Given the description of an element on the screen output the (x, y) to click on. 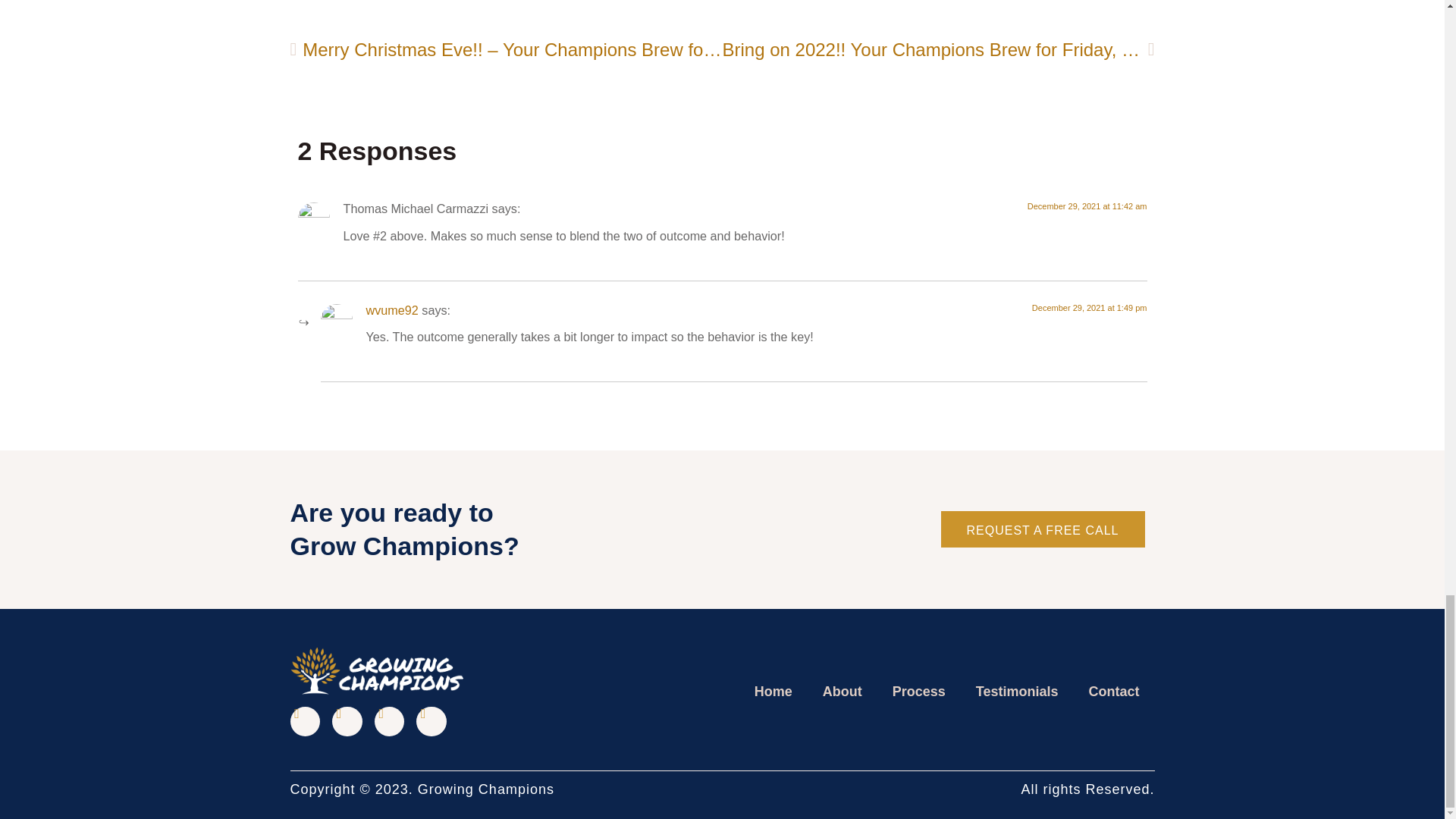
About (842, 691)
December 29, 2021 at 11:42 am (1087, 205)
Testimonials (1017, 691)
Process (918, 691)
Contact (1114, 691)
Home (773, 691)
December 29, 2021 at 1:49 pm (1089, 307)
wvume92 (391, 309)
REQUEST A FREE CALL (1042, 529)
